Given the description of an element on the screen output the (x, y) to click on. 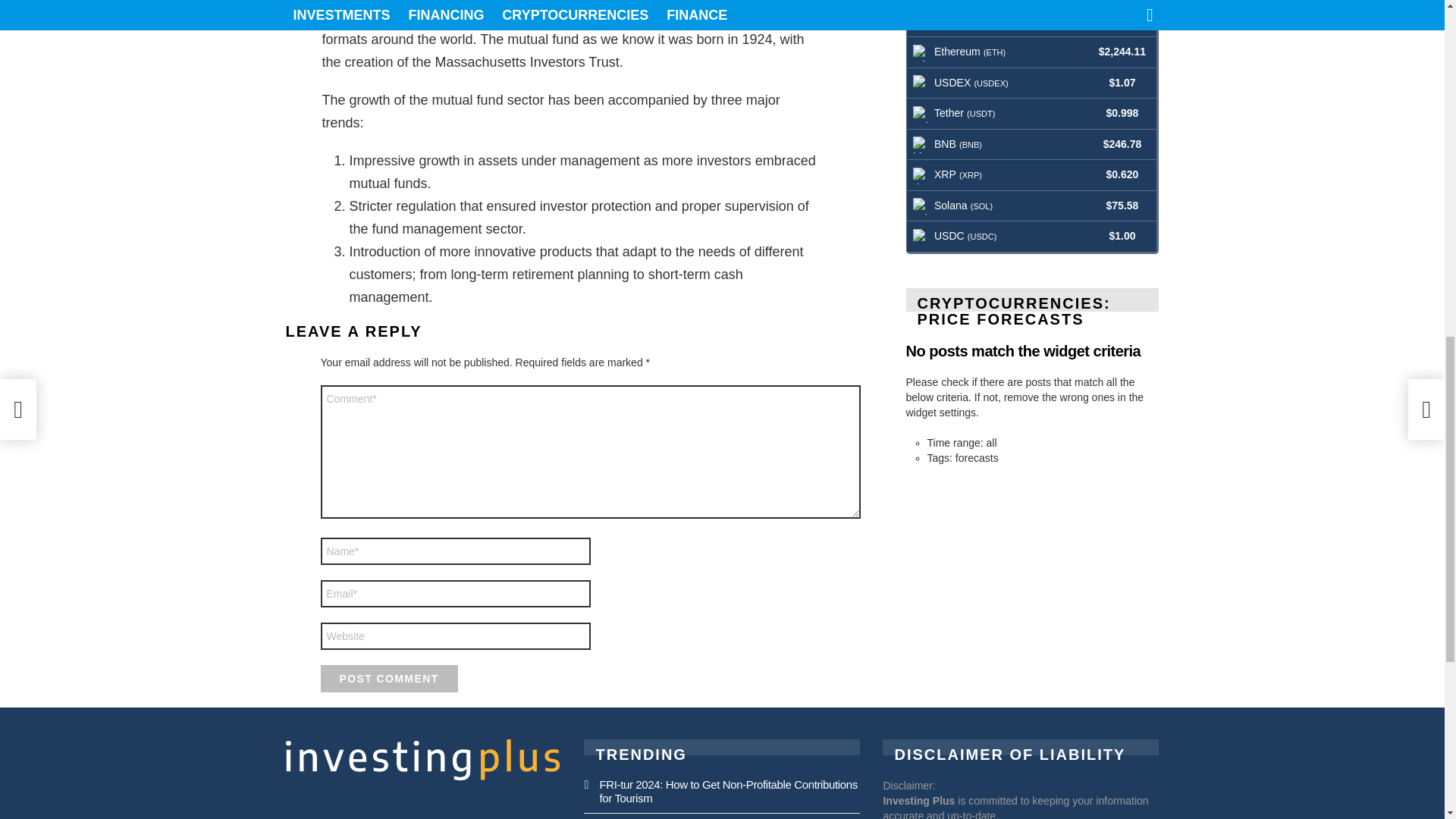
Post Comment (388, 678)
Post Comment (388, 678)
